Given the description of an element on the screen output the (x, y) to click on. 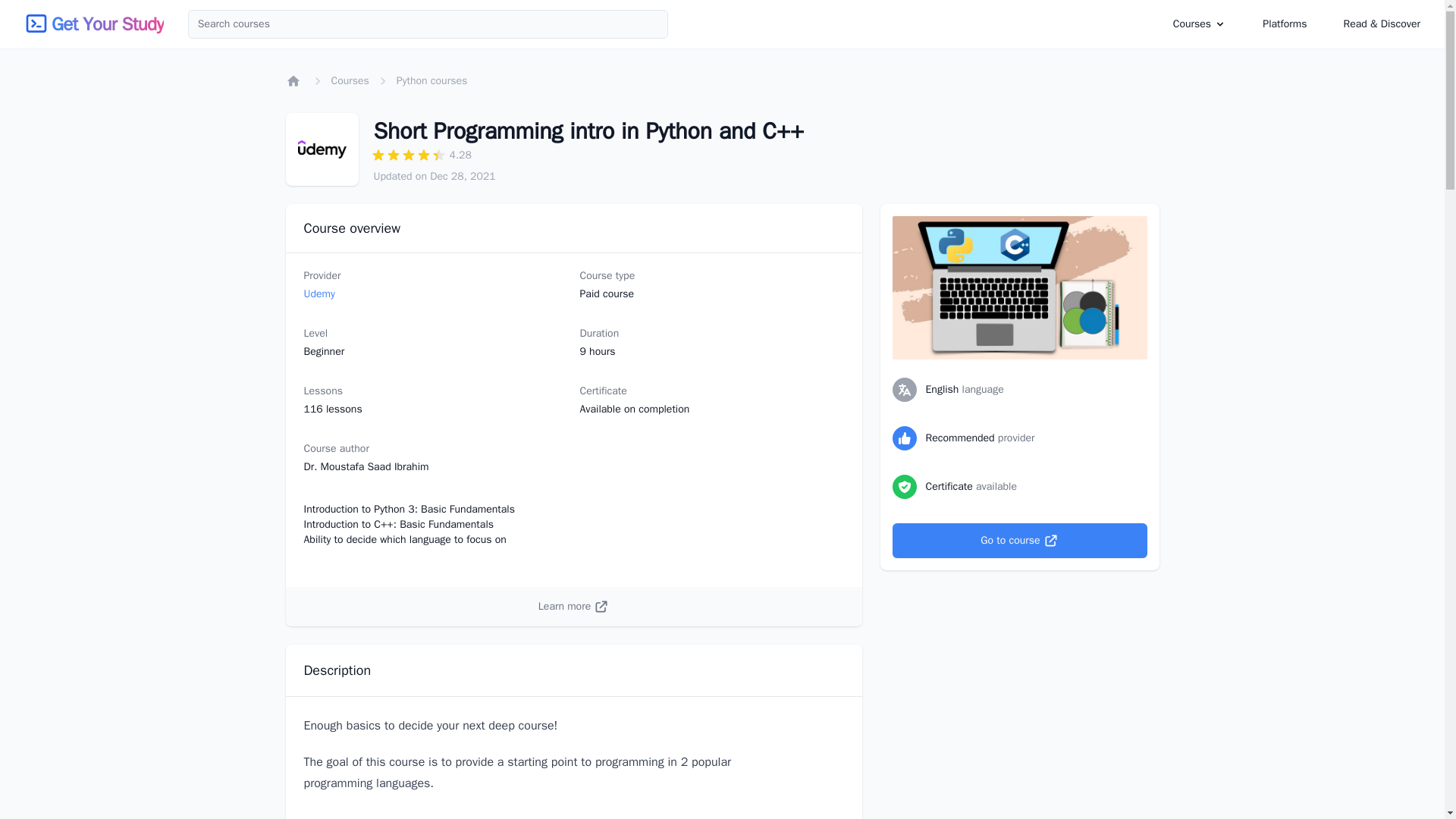
Learn more (573, 606)
Courses (349, 80)
Platforms (1284, 24)
Python courses (431, 80)
Go to course (1019, 540)
Get Your Study (106, 24)
Courses (1192, 23)
Udemy (318, 293)
Courses (1199, 24)
